Given the description of an element on the screen output the (x, y) to click on. 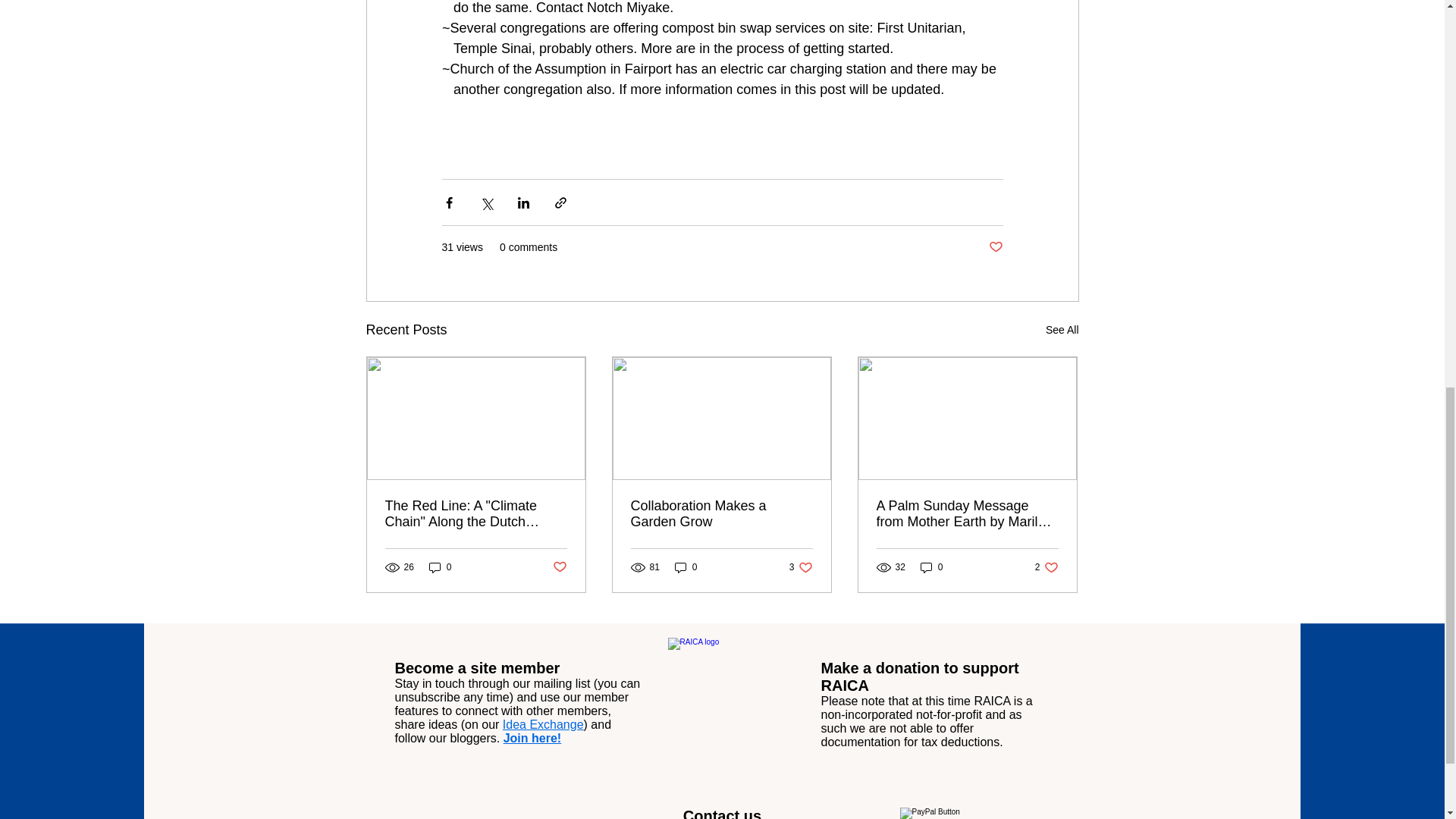
Post not marked as liked (995, 247)
Post not marked as liked (558, 567)
0 (440, 566)
See All (1061, 330)
Collaboration Makes a Garden Grow (721, 513)
